Given the description of an element on the screen output the (x, y) to click on. 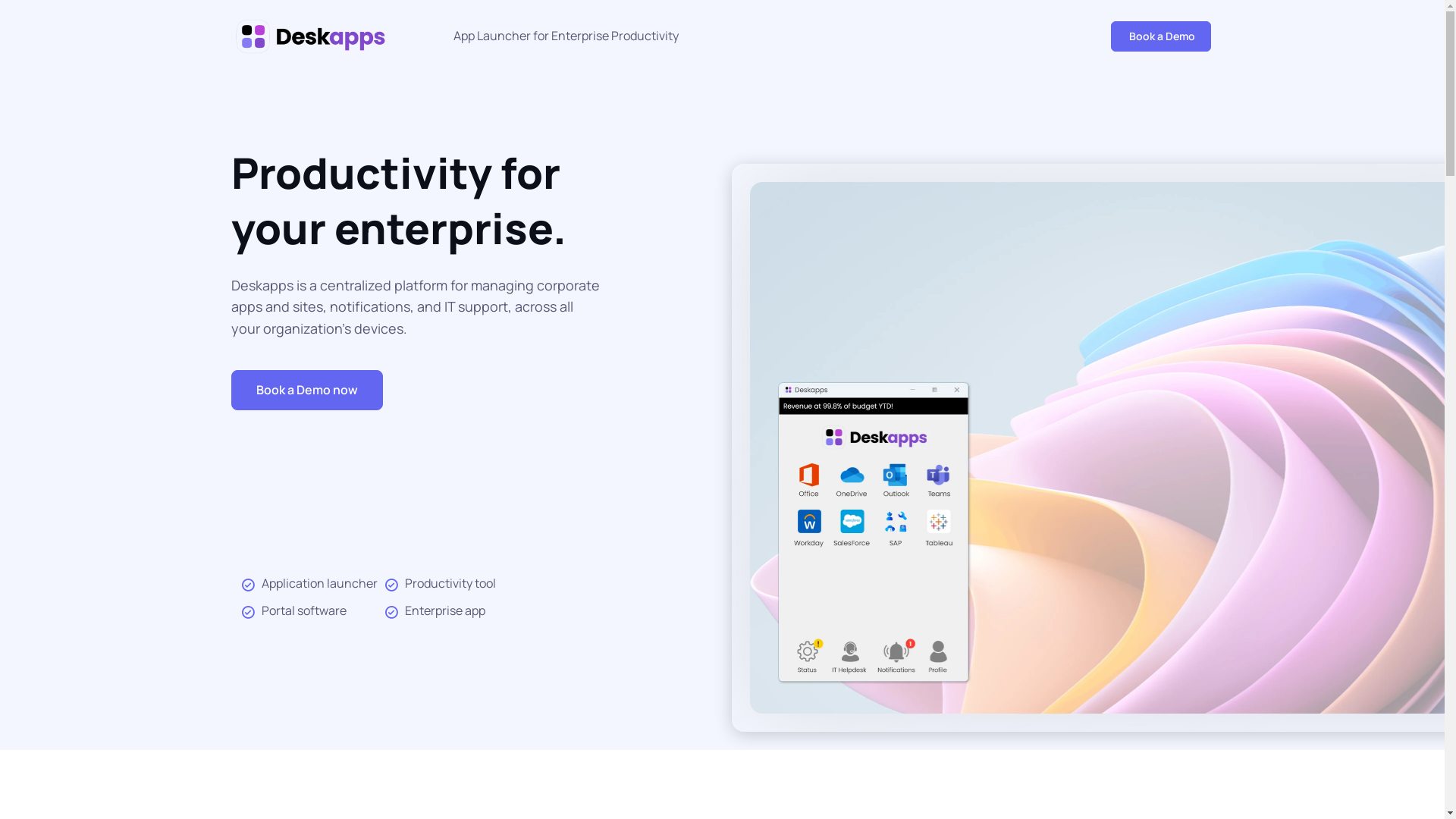
 Book a Demo Element type: text (1160, 36)
Book a Demo now Element type: text (306, 390)
